Given the description of an element on the screen output the (x, y) to click on. 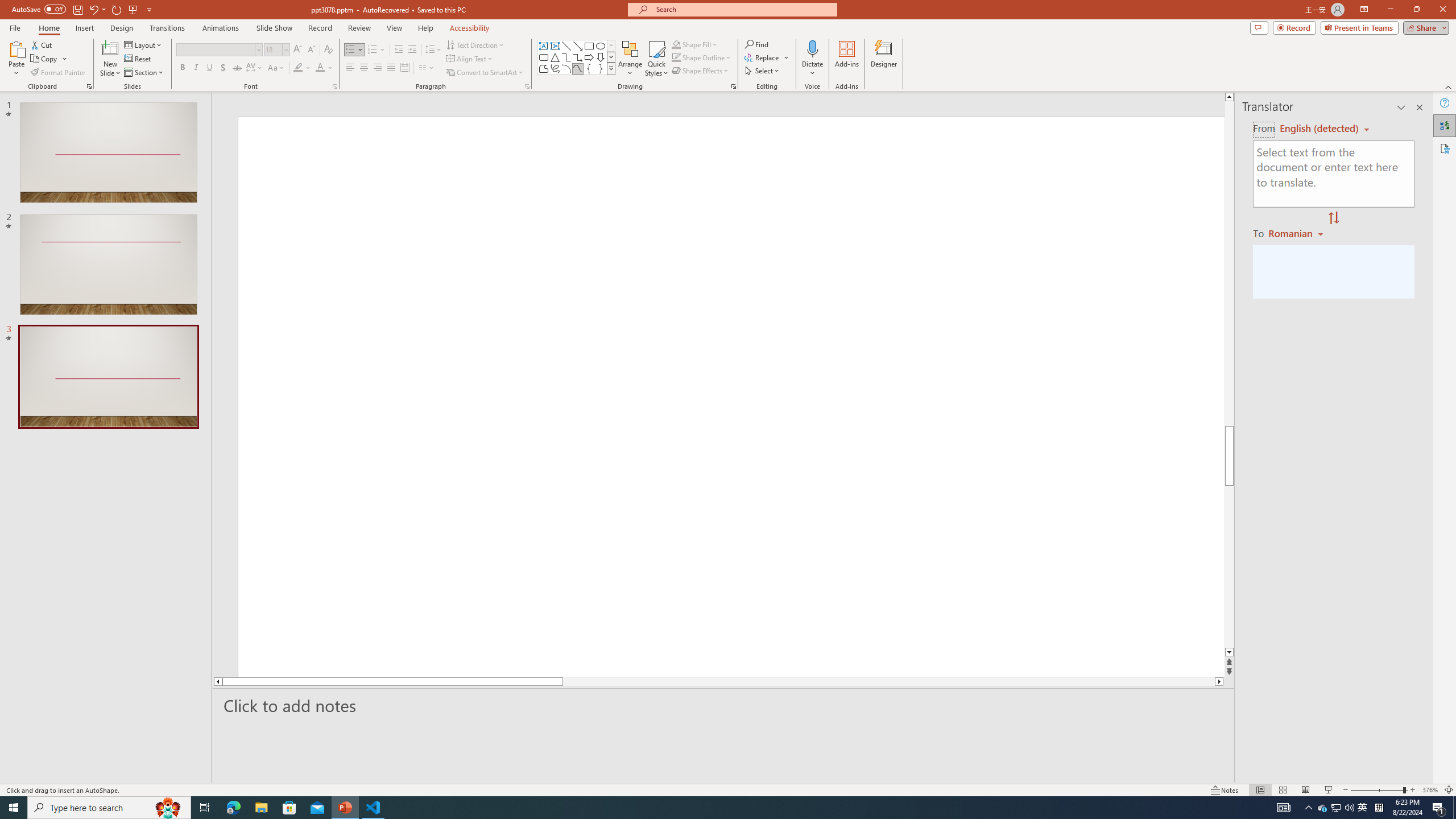
Text Direction (476, 44)
Shadow (223, 67)
Italic (195, 67)
Slide Sorter (1282, 790)
Transitions (167, 28)
Replace... (767, 56)
Office Clipboard... (88, 85)
Shapes (611, 68)
Insert (83, 28)
Font Color Red (320, 67)
Align Left (349, 67)
Columns (426, 67)
Curve (577, 68)
Decrease Indent (398, 49)
